Given the description of an element on the screen output the (x, y) to click on. 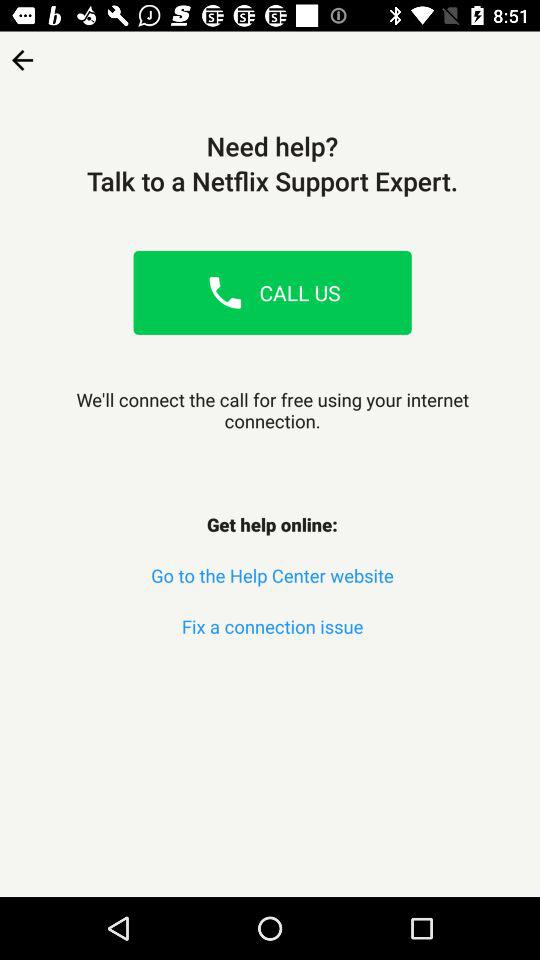
swipe to the go to the item (272, 575)
